Given the description of an element on the screen output the (x, y) to click on. 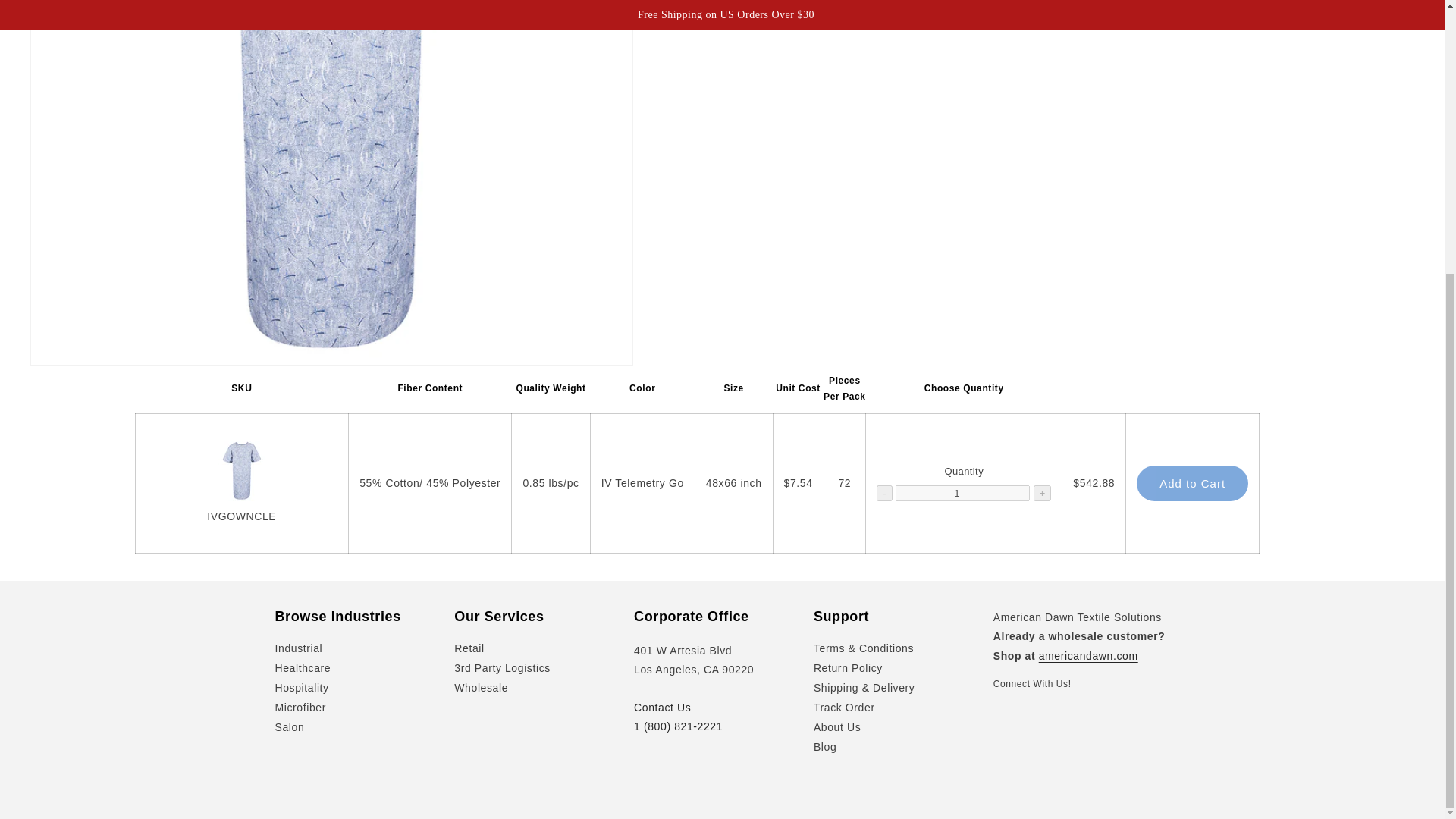
Add to Cart (1192, 483)
- (883, 493)
Hospitality (302, 687)
1 (962, 493)
Industrial (298, 650)
Add to Cart (1192, 483)
Healthcare (302, 668)
